Given the description of an element on the screen output the (x, y) to click on. 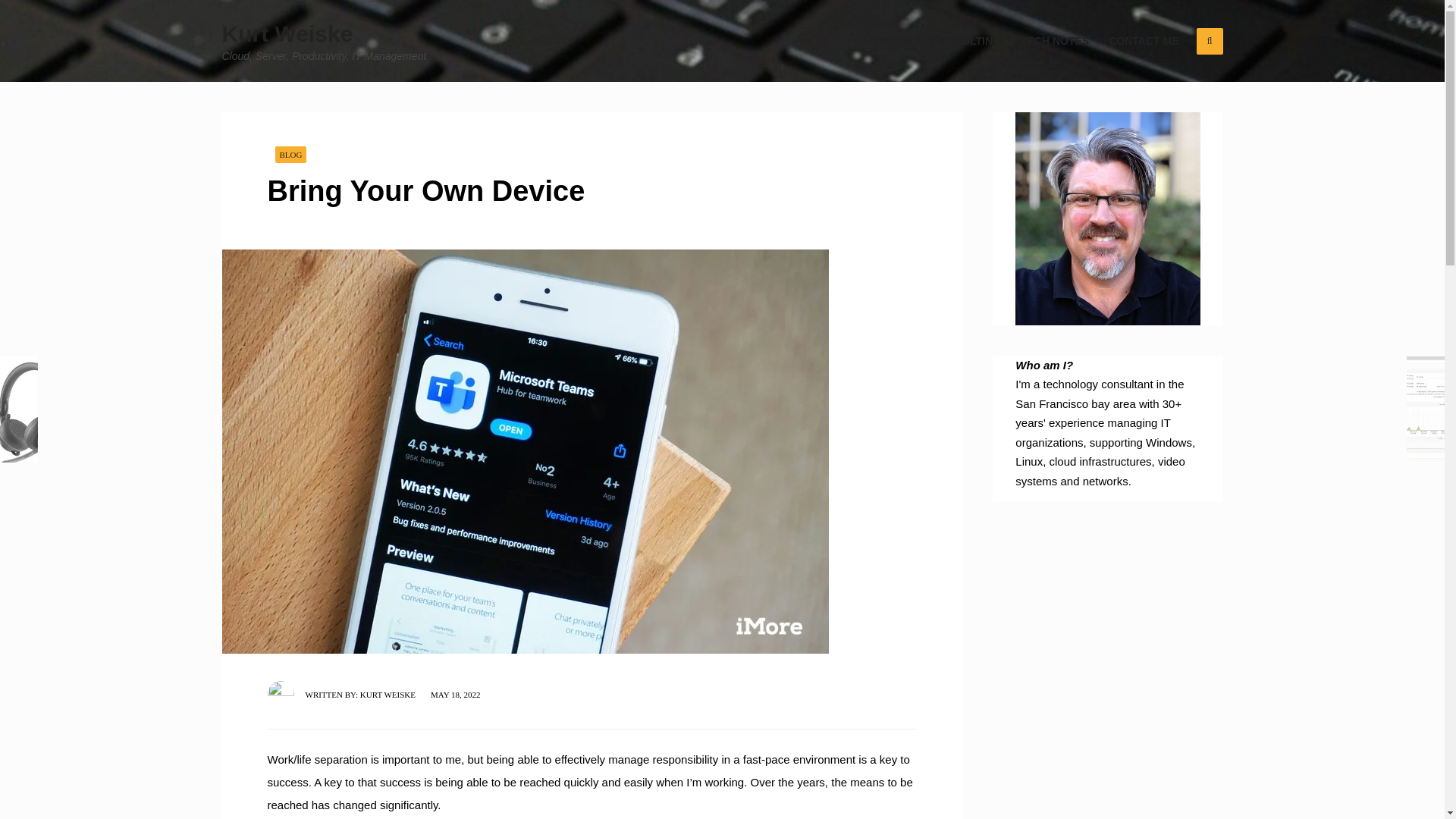
technology consultant (1098, 383)
CONTACT ME (1143, 40)
Kurt Weiske (286, 33)
HOME (895, 40)
KURT WEISKE (386, 694)
TECH NOTES (1054, 40)
BLOG (290, 153)
Posts by Kurt Weiske (386, 694)
CONSULTING (966, 40)
